Given the description of an element on the screen output the (x, y) to click on. 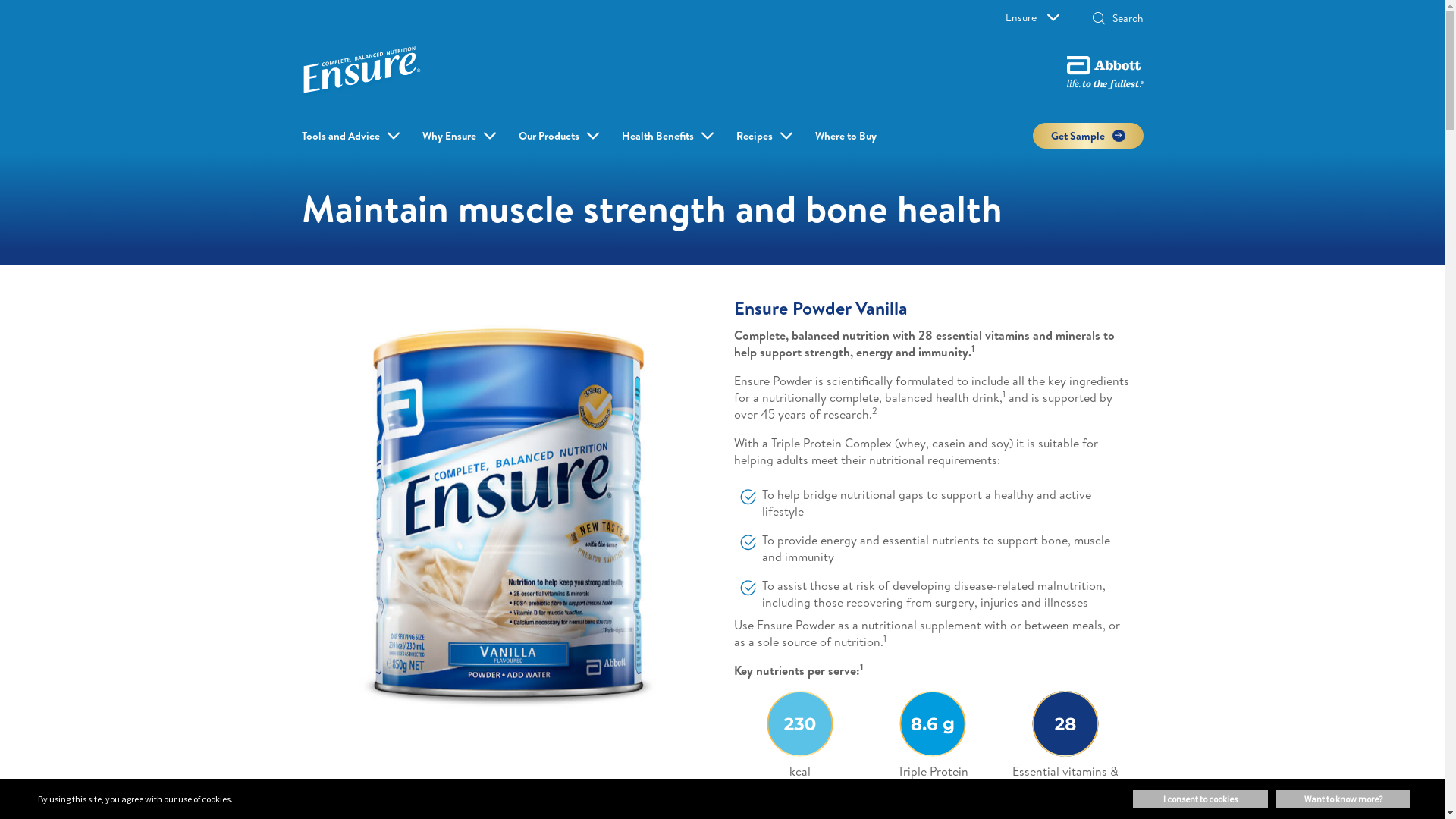
Ensure Element type: text (1032, 16)
Recipes Element type: text (753, 135)
Our Products Element type: text (548, 135)
want to know more? Element type: text (1342, 798)
i consent to cookies Element type: text (1199, 798)
Health Benefits Element type: text (657, 135)
Get Sample Element type: text (1087, 135)
Tools and Advice Element type: text (340, 135)
Why Ensure Element type: text (448, 135)
Where to Buy Element type: text (844, 135)
